Given the description of an element on the screen output the (x, y) to click on. 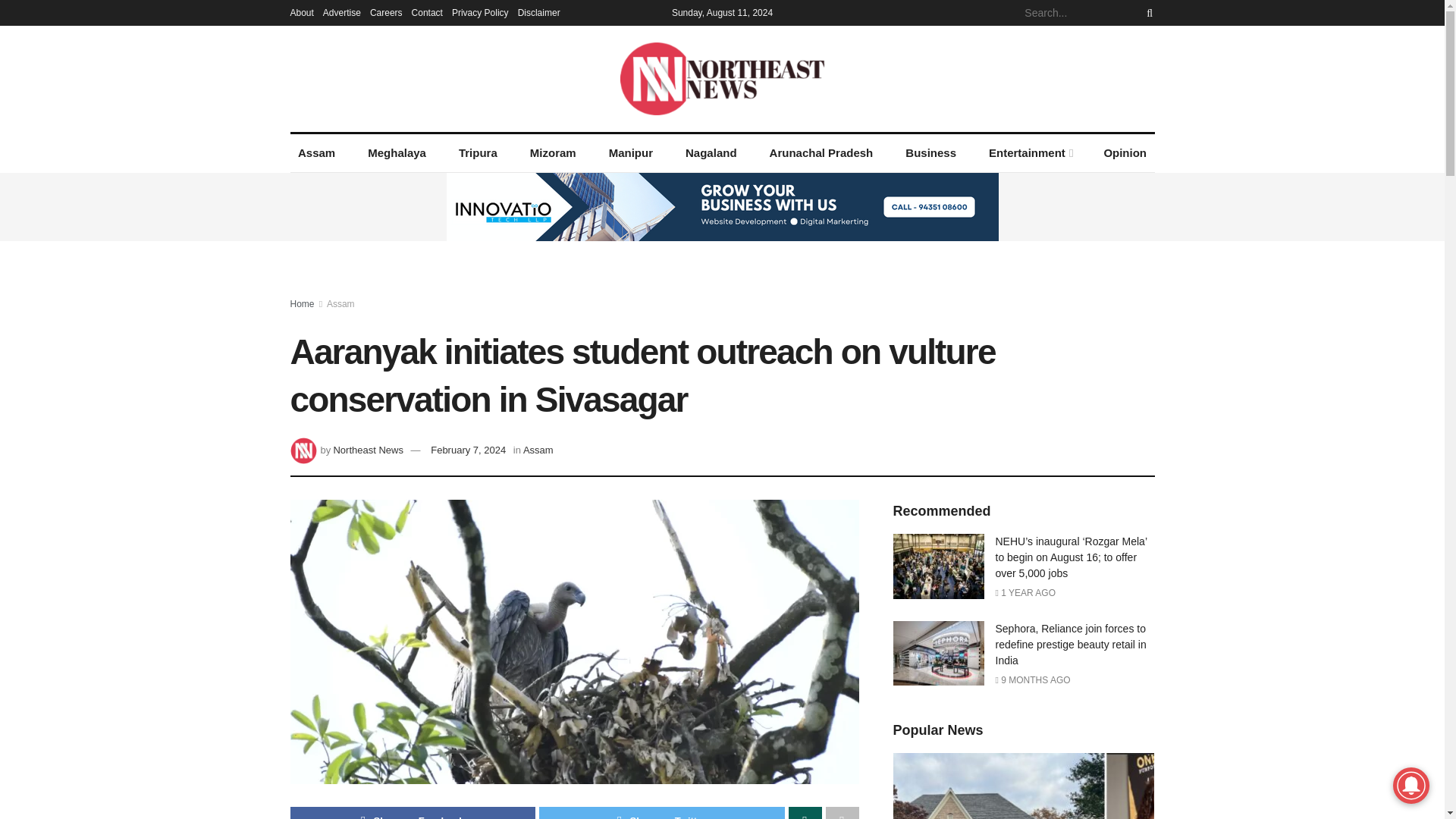
Mizoram (552, 152)
Contact (427, 12)
Disclaimer (539, 12)
Tripura (477, 152)
Opinion (1125, 152)
About (301, 12)
Entertainment (1029, 152)
Advertise (342, 12)
Assam (315, 152)
Manipur (630, 152)
